Given the description of an element on the screen output the (x, y) to click on. 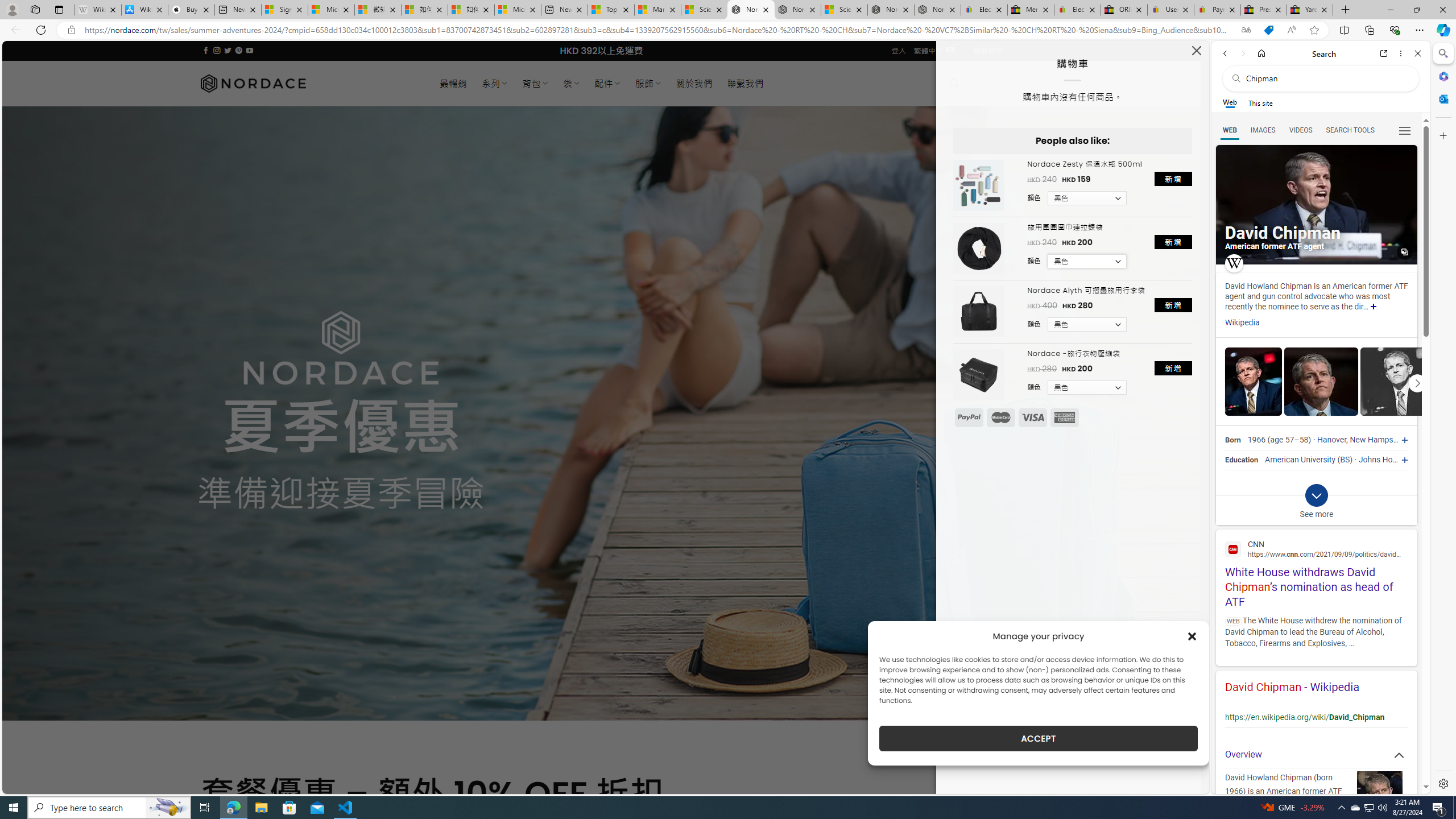
This site has coupons! Shopping in Microsoft Edge (1268, 29)
Follow on Instagram (216, 50)
Top Stories - MSN (610, 9)
New Hampshire (1377, 439)
